Given the description of an element on the screen output the (x, y) to click on. 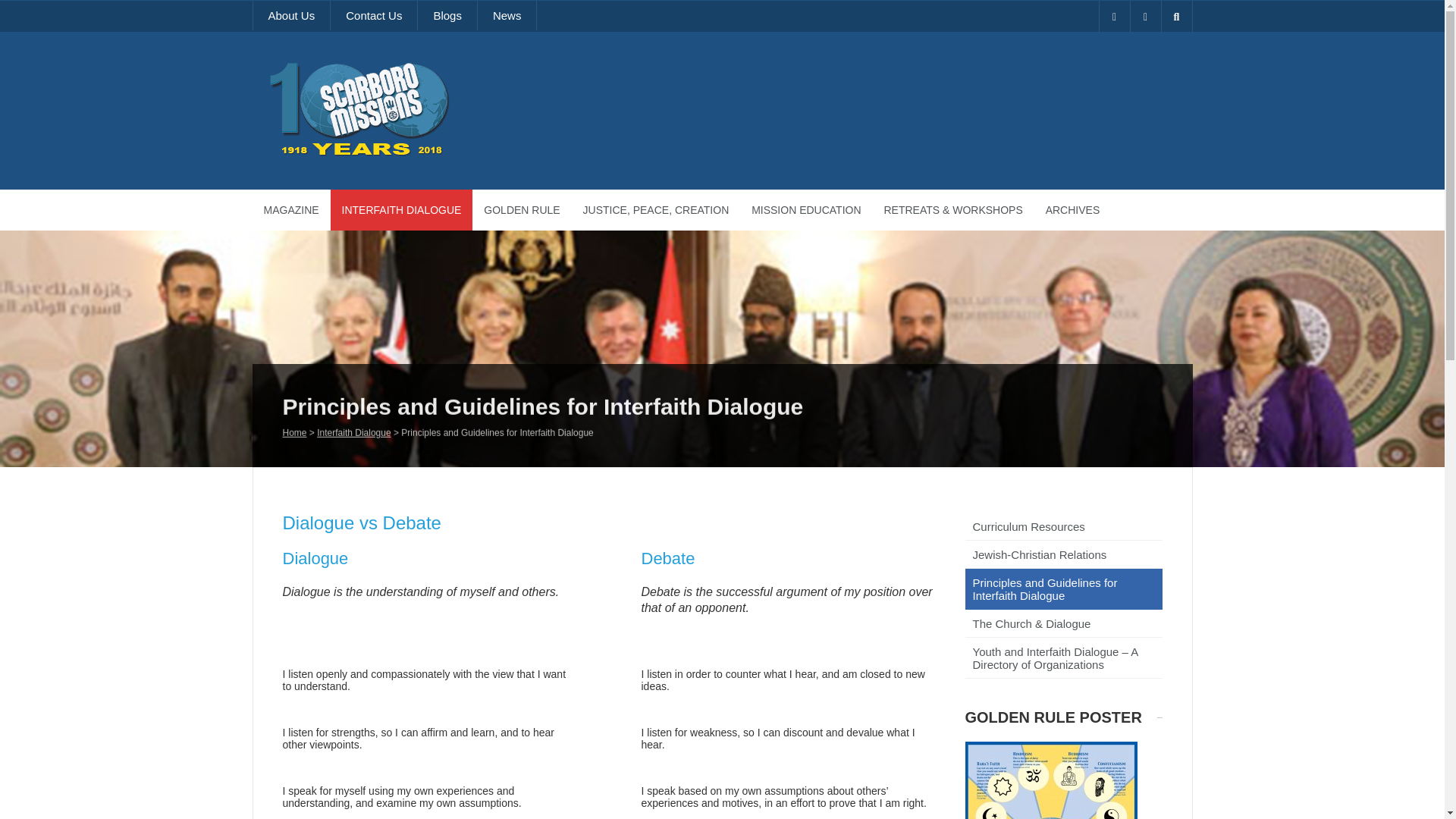
MISSION EDUCATION (805, 209)
Blogs (447, 15)
YouTube (1114, 15)
INTERFAITH DIALOGUE (401, 209)
JUSTICE, PEACE, CREATION (656, 209)
MAGAZINE (290, 209)
About Us (291, 15)
News (507, 15)
Contact Us (373, 15)
 - A Canadian Roman Catholic Mission Society (415, 152)
Search (22, 8)
GOLDEN RULE (520, 209)
